Given the description of an element on the screen output the (x, y) to click on. 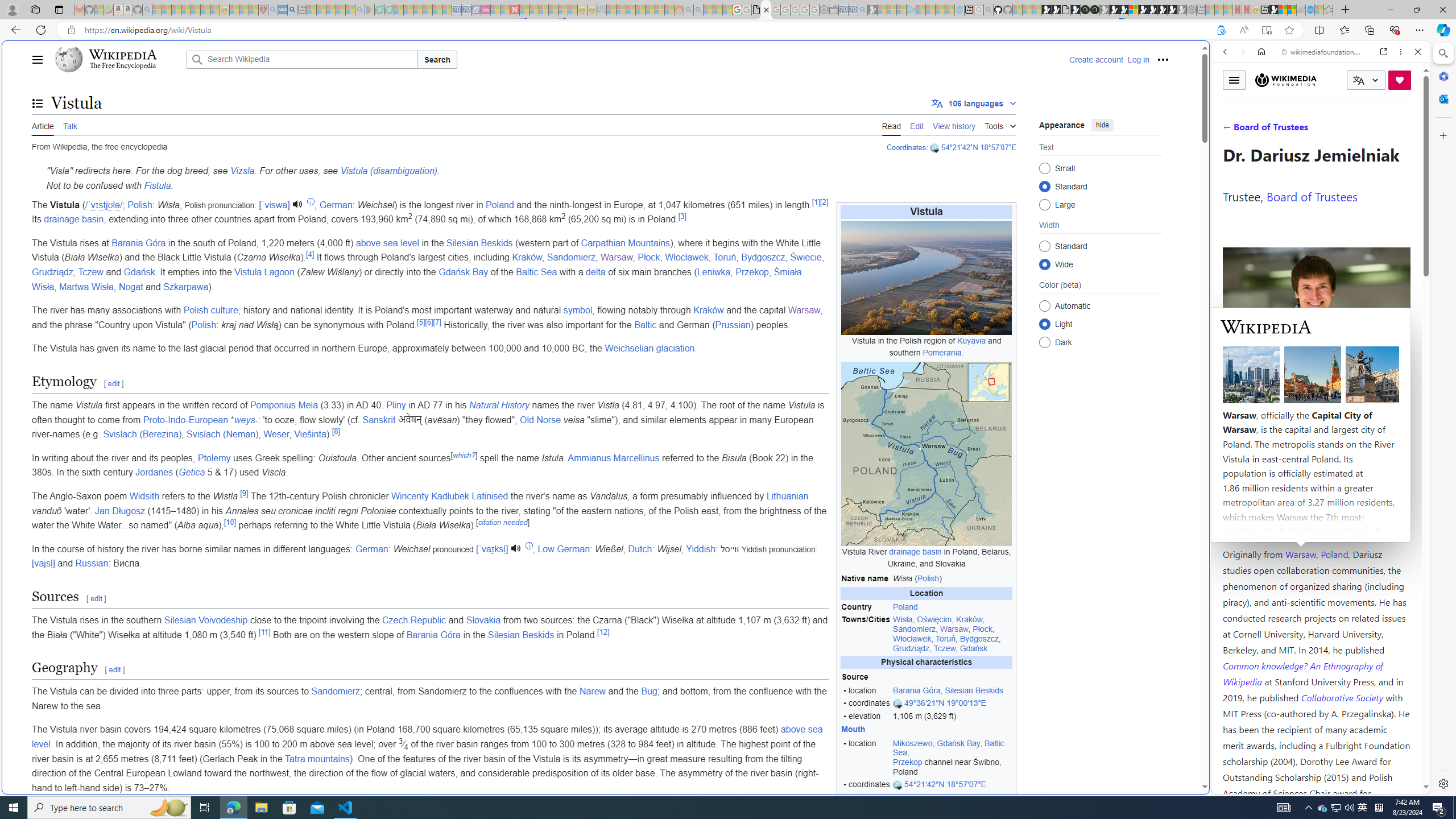
Svislach (Neman) (222, 434)
MSN (1272, 9)
citation needed (502, 521)
The Weather Channel - MSN - Sleeping (175, 9)
drainage basin (73, 219)
Frequently visited (965, 151)
Narew (592, 691)
Close Outlook pane (1442, 98)
